Given the description of an element on the screen output the (x, y) to click on. 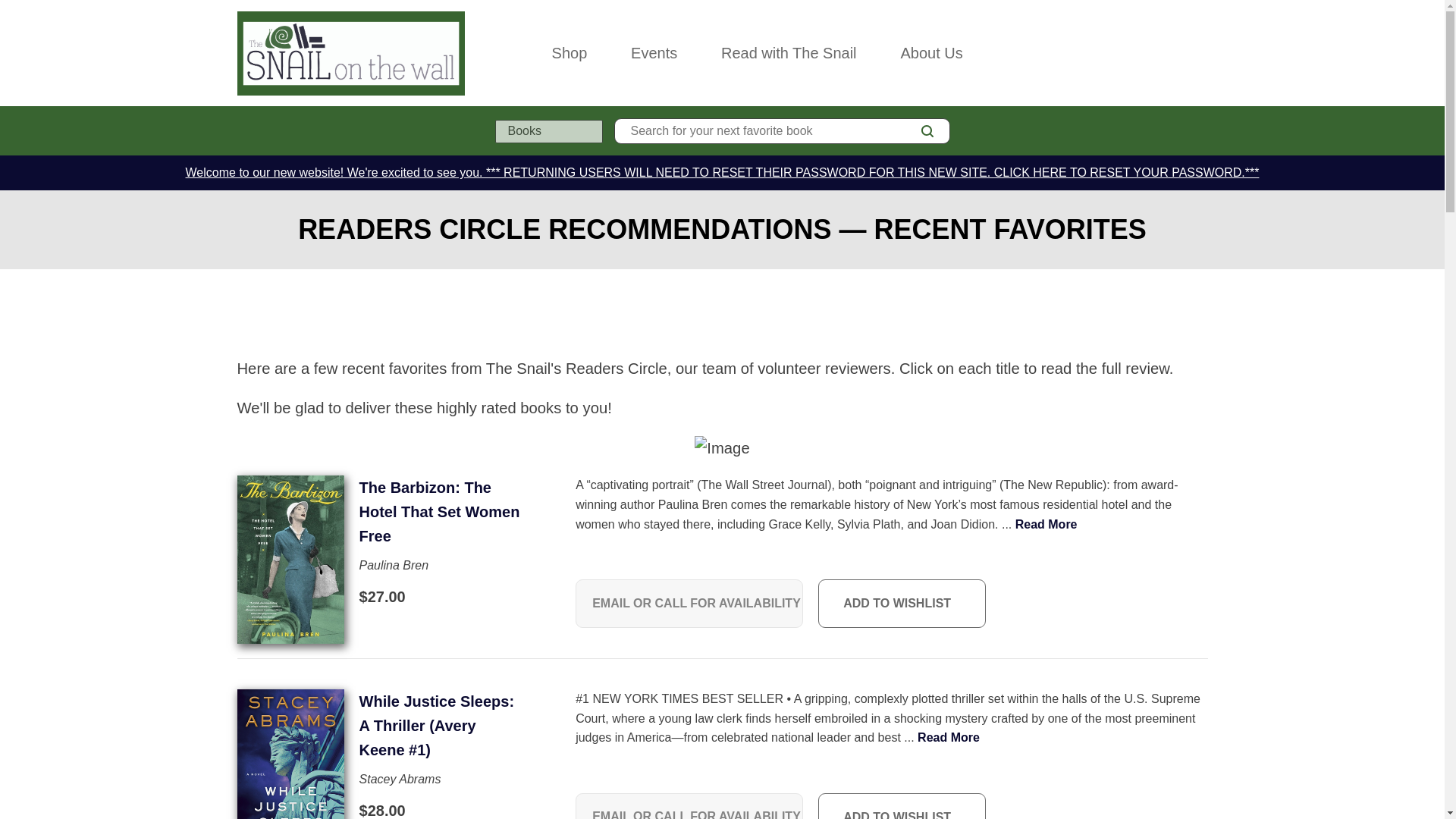
ADD TO WISHLIST (901, 806)
Wishlists (1168, 52)
Cart (1201, 52)
Log in (1134, 52)
ADD TO WISHLIST (901, 603)
SEARCH (1045, 523)
Log in (926, 130)
Email or Call for Availability (1134, 52)
Cart (689, 806)
